Given the description of an element on the screen output the (x, y) to click on. 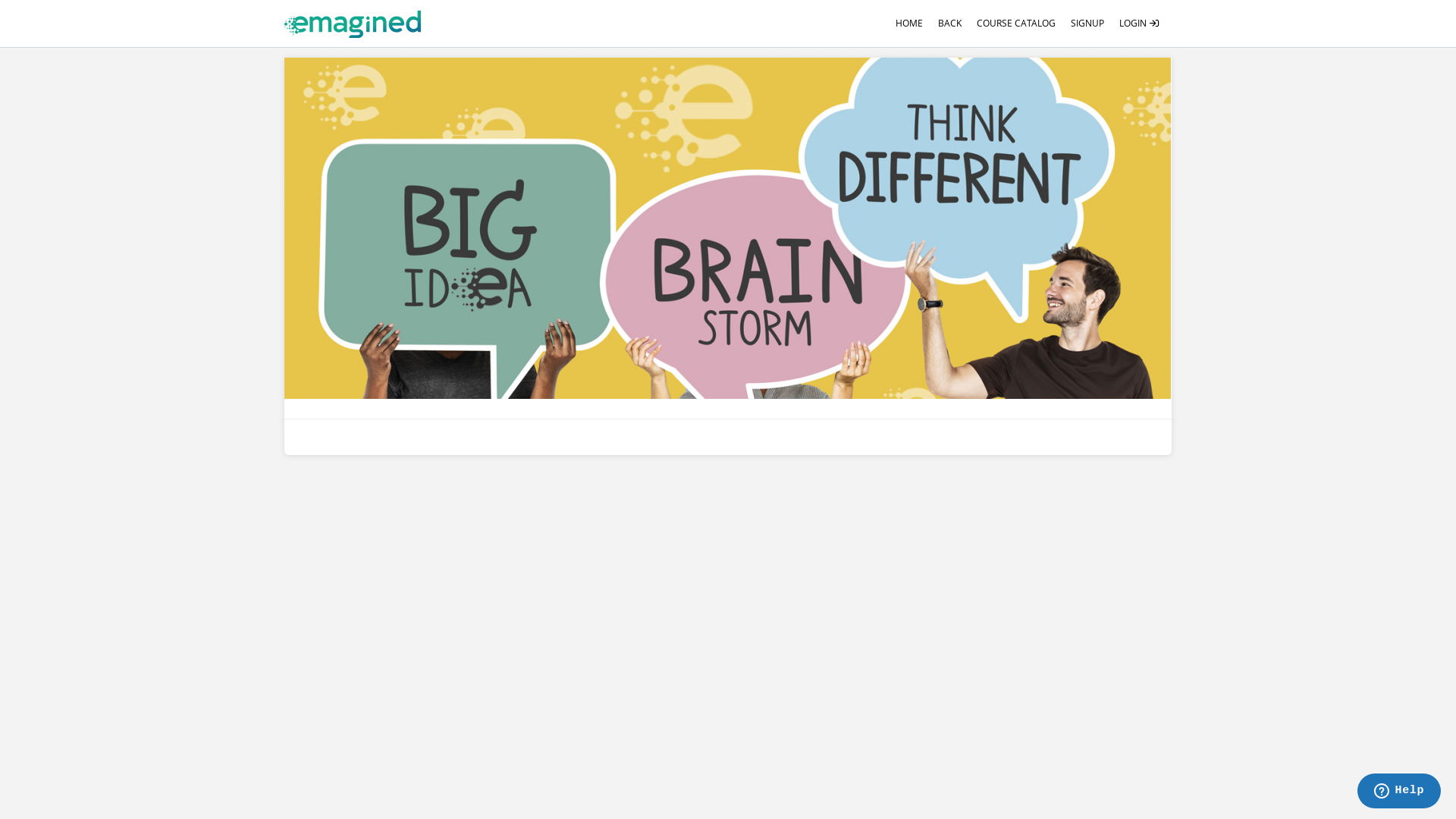
HOME Element type: text (909, 23)
COURSE CATALOG Element type: text (1016, 23)
Opens a widget where you can find more information Element type: hover (1398, 792)
LOGIN  Element type: text (1139, 23)
BACK Element type: text (949, 23)
SIGNUP Element type: text (1087, 23)
